Given the description of an element on the screen output the (x, y) to click on. 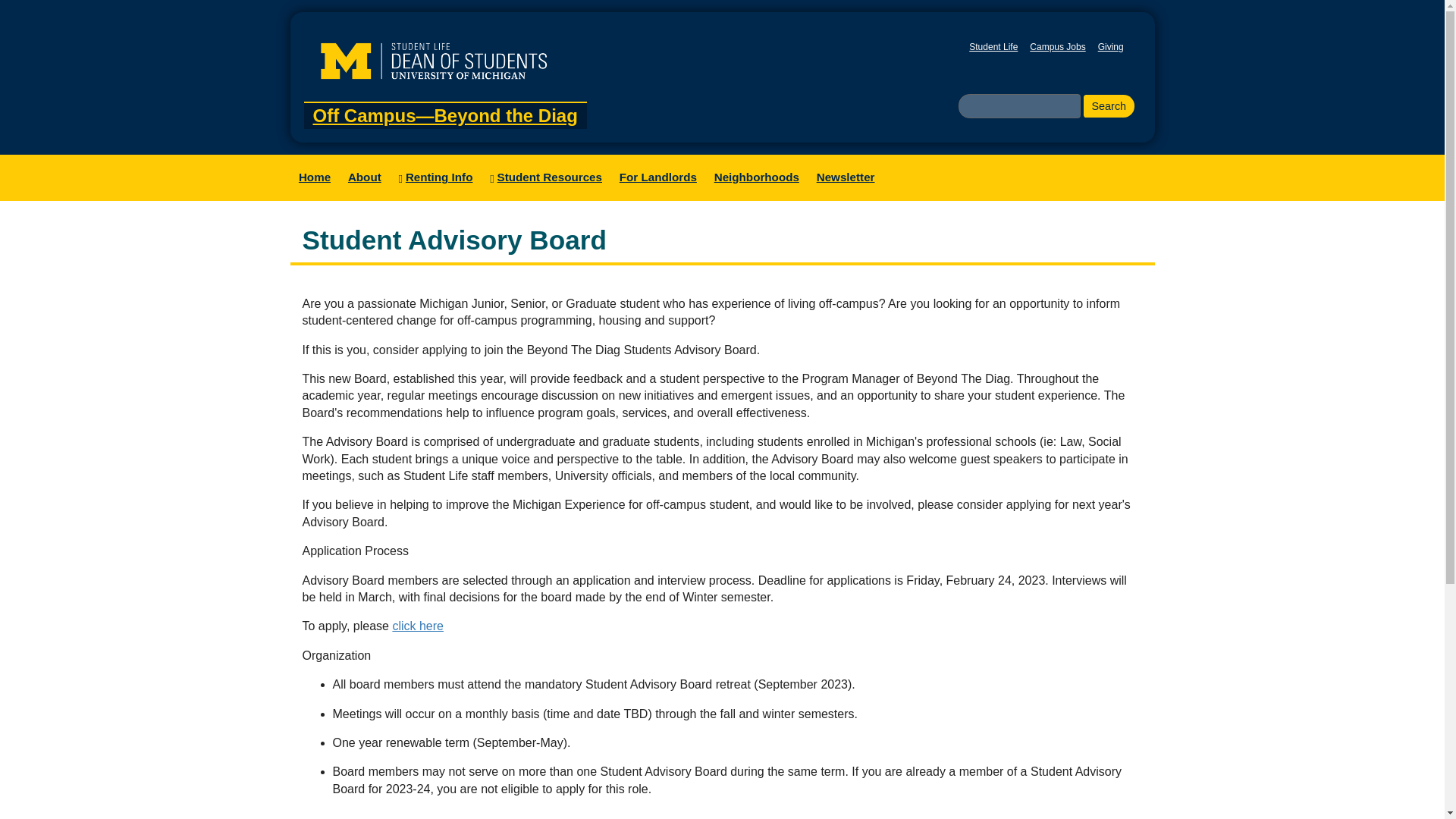
click here (417, 625)
Neighborhoods (756, 178)
Giving (1110, 46)
Search (1108, 106)
Student Resources (546, 178)
Home (314, 178)
Enter the terms you wish to search for. (1019, 105)
Campus Jobs (1056, 46)
For Landlords (656, 178)
Newsletter (845, 178)
Student Life (993, 46)
About (364, 178)
Renting Info (436, 178)
Search (1108, 106)
